Given the description of an element on the screen output the (x, y) to click on. 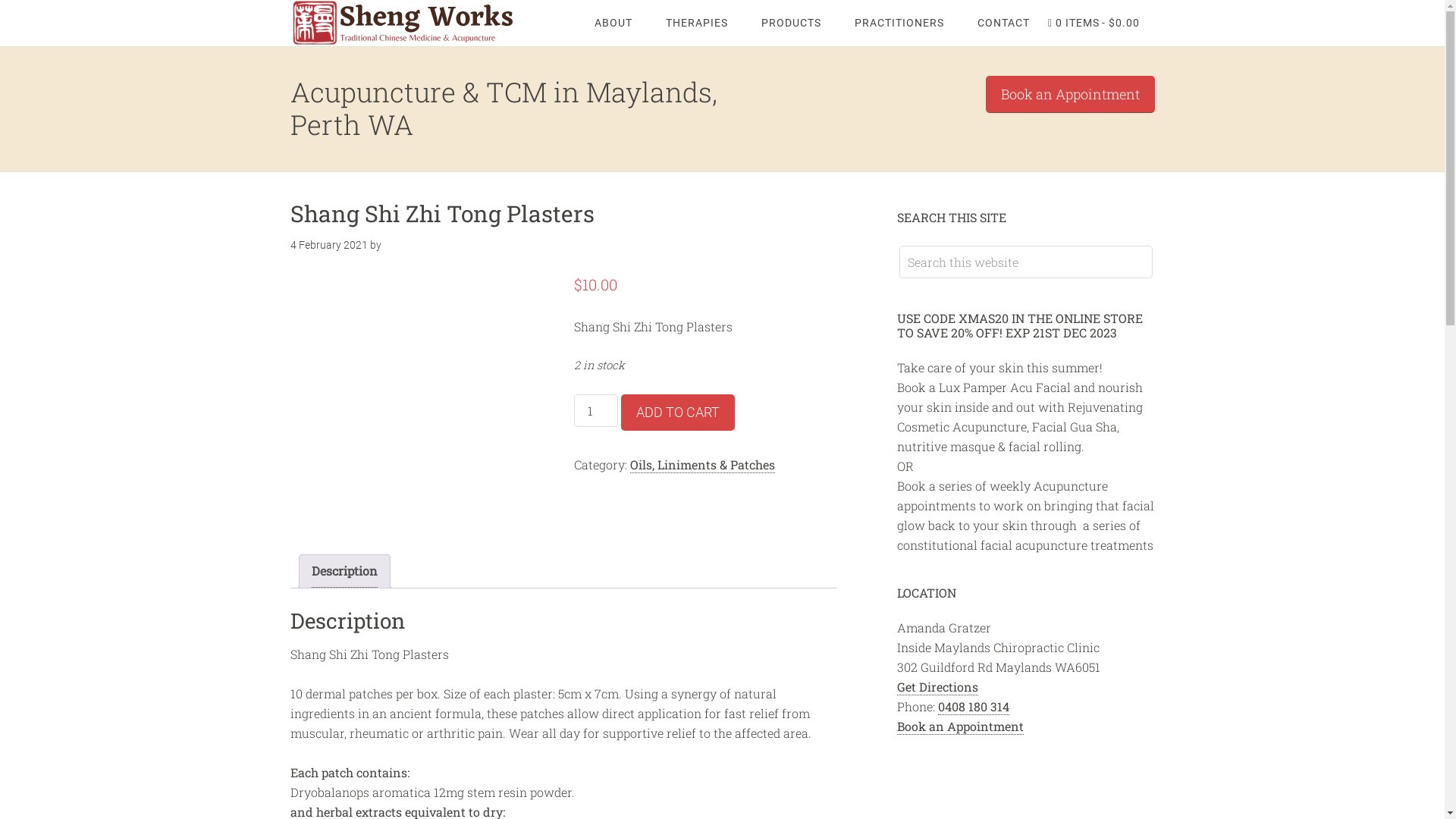
0 ITEMS$0.00 Element type: text (1093, 23)
PRACTITIONERS Element type: text (899, 23)
THERAPIES Element type: text (696, 23)
0408 180 314 Element type: text (972, 706)
SHENG WORKS Element type: text (410, 22)
Search Element type: text (1151, 244)
ADD TO CART Element type: text (677, 412)
Book an Appointment Element type: text (1069, 93)
ABOUT Element type: text (613, 23)
Oils, Liniments & Patches Element type: text (702, 464)
PRODUCTS Element type: text (791, 23)
CONTACT Element type: text (995, 23)
Book an Appointment Element type: text (959, 726)
Get Directions Element type: text (936, 686)
Description Element type: text (343, 571)
